Given the description of an element on the screen output the (x, y) to click on. 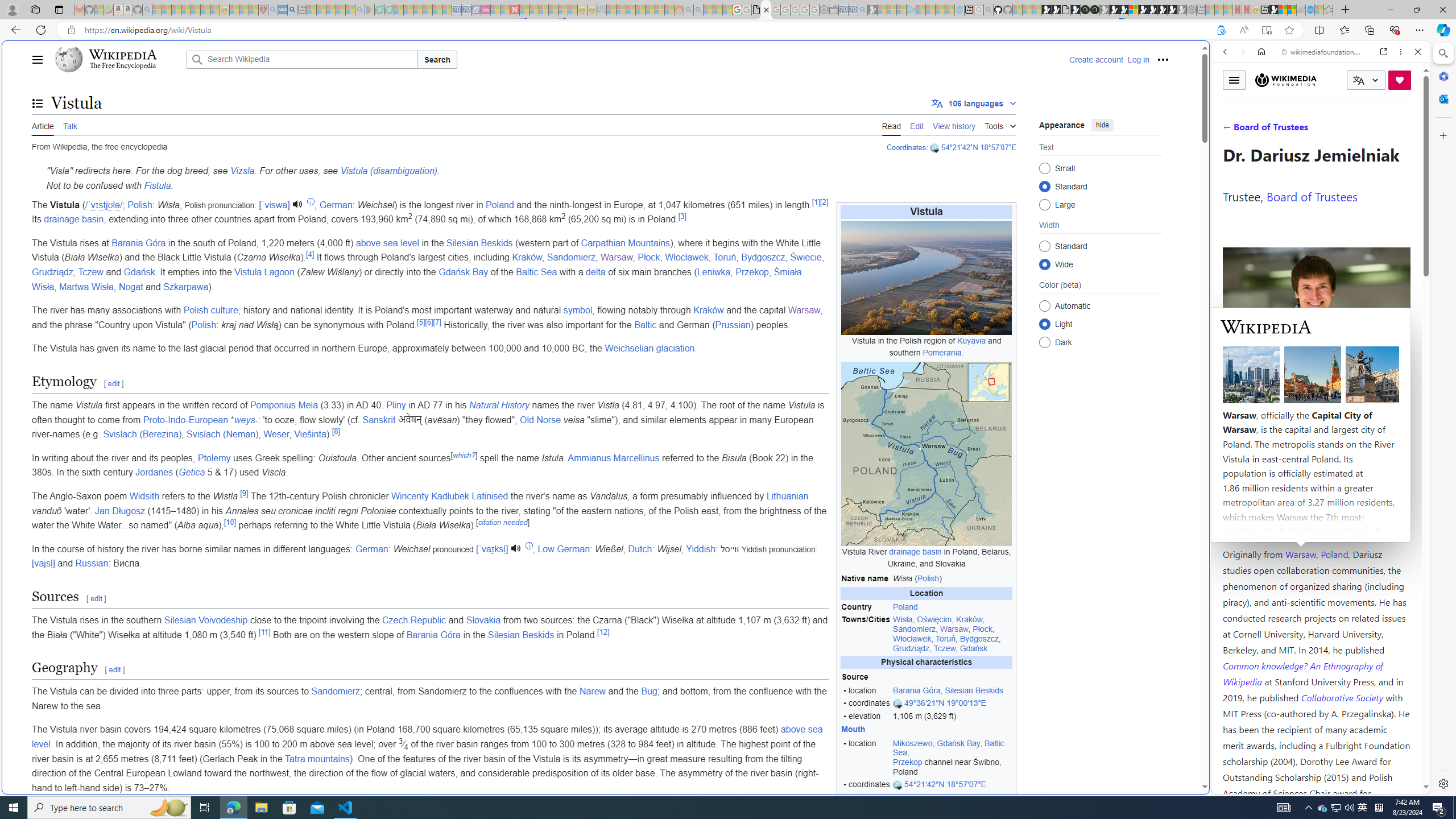
Wikipedia (122, 54)
Article (42, 124)
Home | Sky Blue Bikes - Sky Blue Bikes (1118, 242)
Vistula (926, 211)
Microsoft-Report a Concern to Bing - Sleeping (98, 9)
Search or enter web address (922, 108)
Kinda Frugal - MSN - Sleeping (649, 9)
[5] (420, 321)
